Given the description of an element on the screen output the (x, y) to click on. 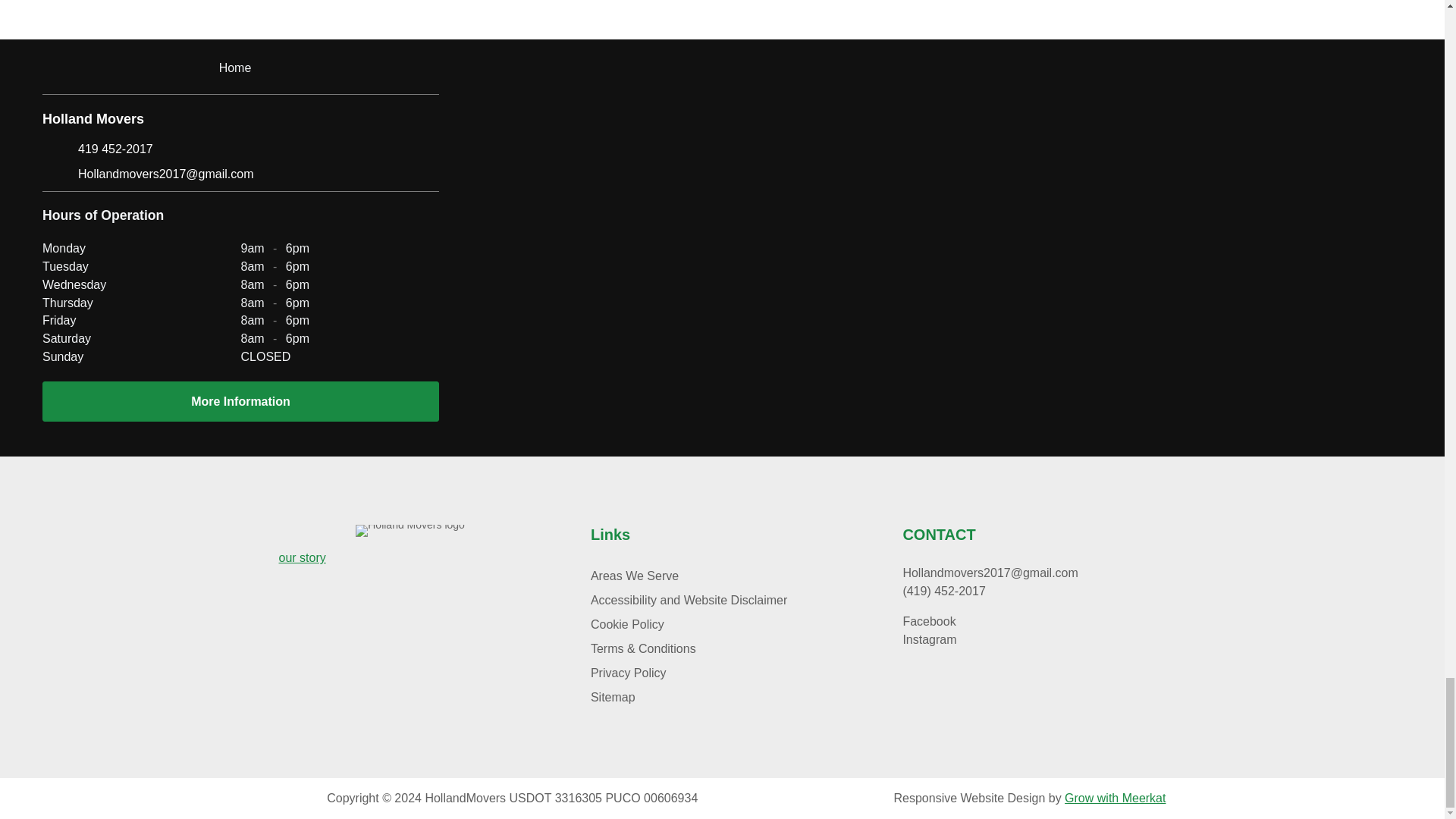
holland-movers-logo (409, 530)
